Given the description of an element on the screen output the (x, y) to click on. 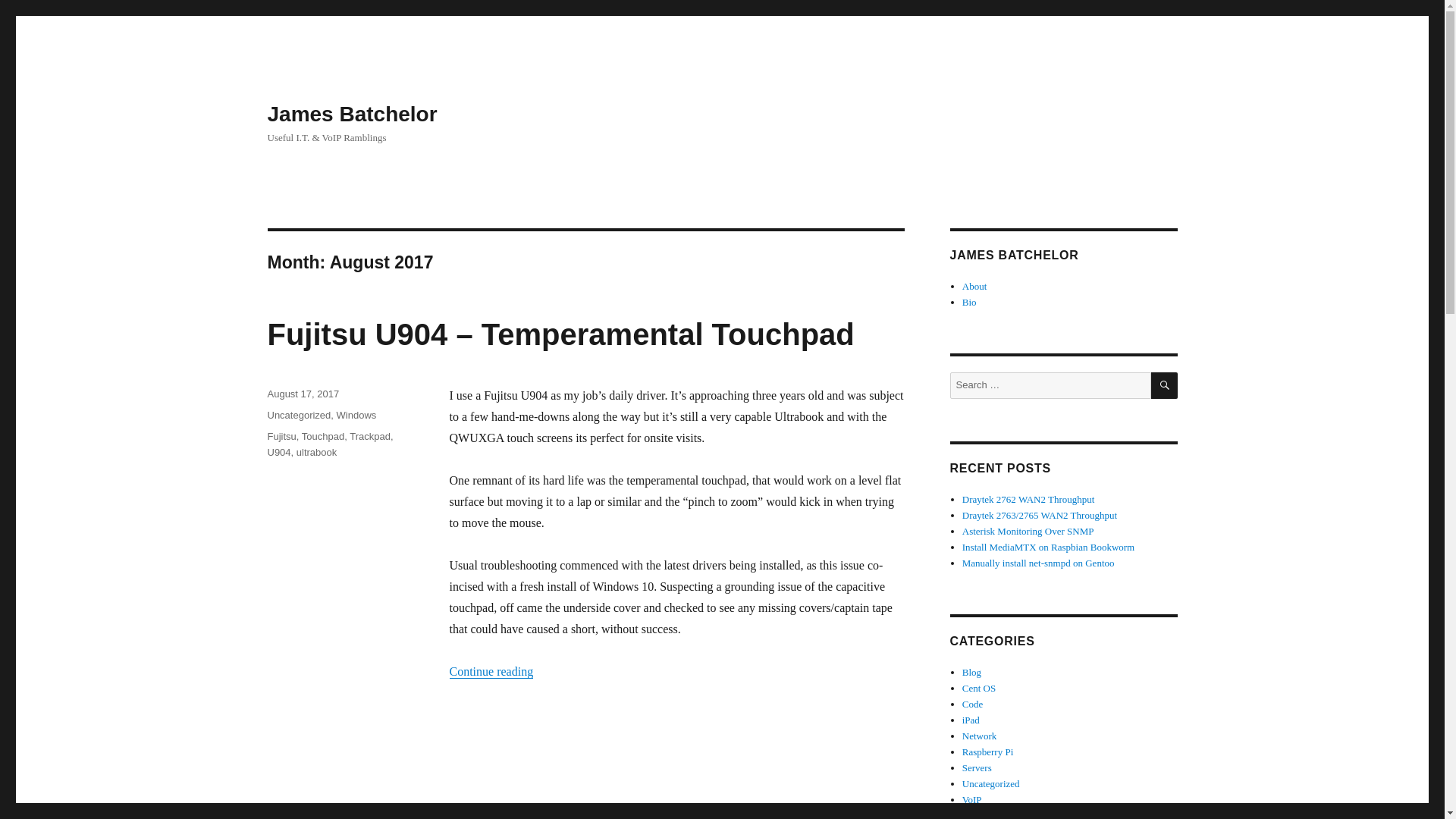
James Batchelor (351, 114)
About (974, 285)
Manually install net-snmpd on Gentoo (1038, 562)
Raspberry Pi (987, 751)
Fujitsu (280, 436)
Windows (356, 414)
Bio (969, 301)
Asterisk Monitoring Over SNMP (1028, 531)
August 17, 2017 (302, 393)
Blog (971, 672)
Uncategorized (991, 783)
iPad (970, 719)
Network (979, 736)
VoIP (971, 799)
Cent OS (978, 687)
